Given the description of an element on the screen output the (x, y) to click on. 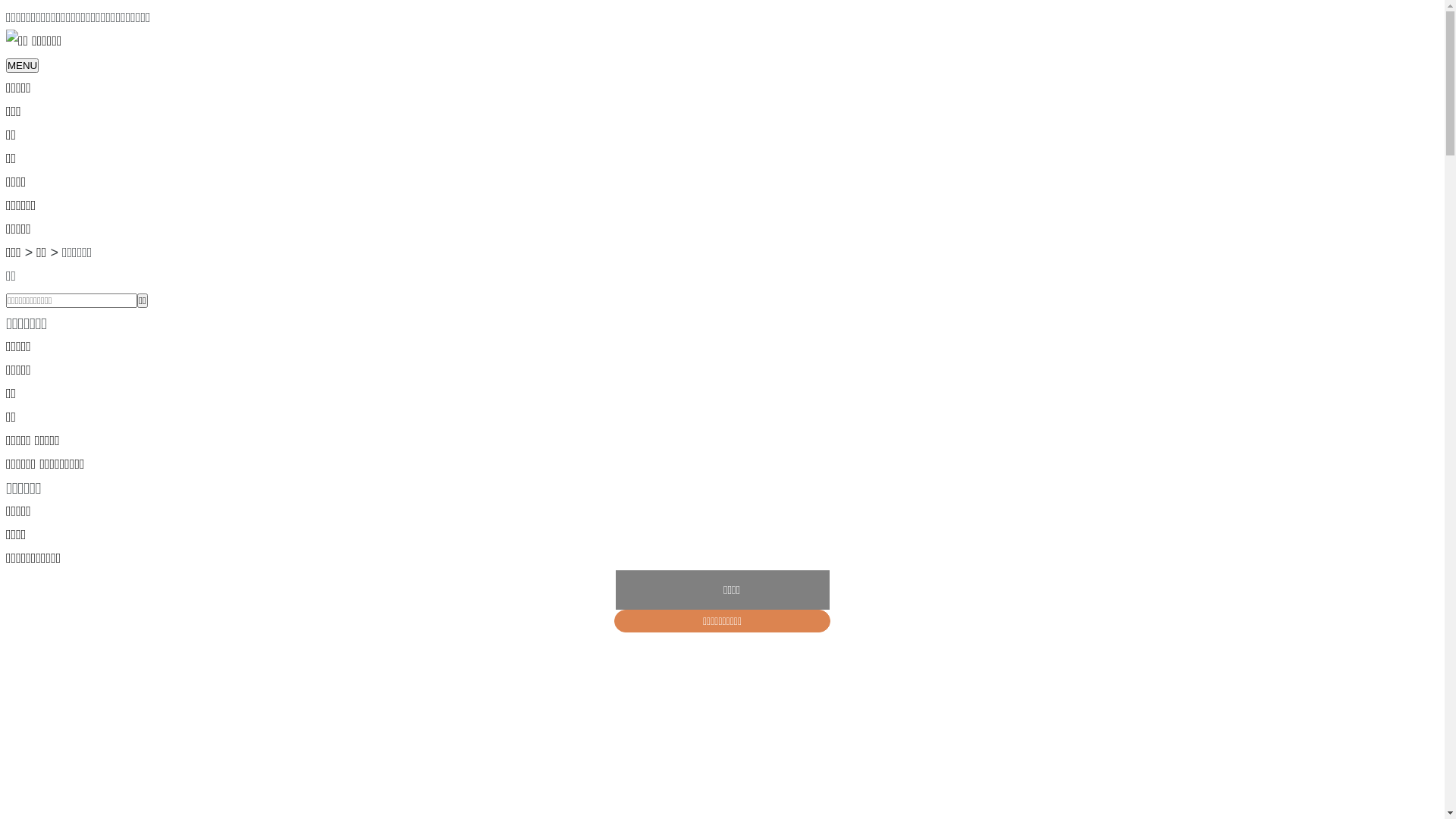
MENU Element type: text (22, 65)
